Given the description of an element on the screen output the (x, y) to click on. 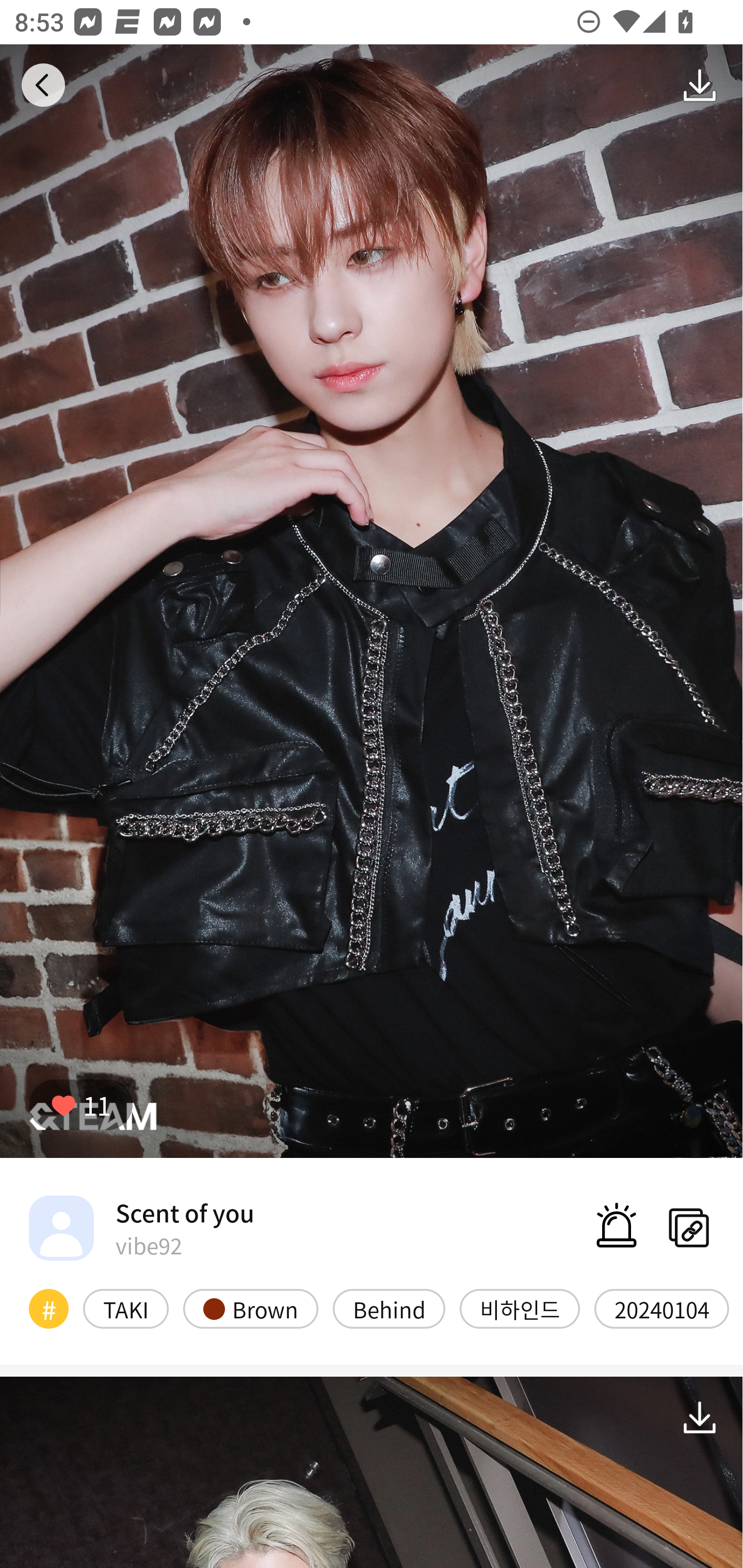
11 (80, 1104)
Scent of you vibe92 (141, 1227)
TAKI (125, 1308)
Brown (250, 1308)
Behind (388, 1308)
비하인드 (519, 1308)
20240104 (661, 1308)
